Given the description of an element on the screen output the (x, y) to click on. 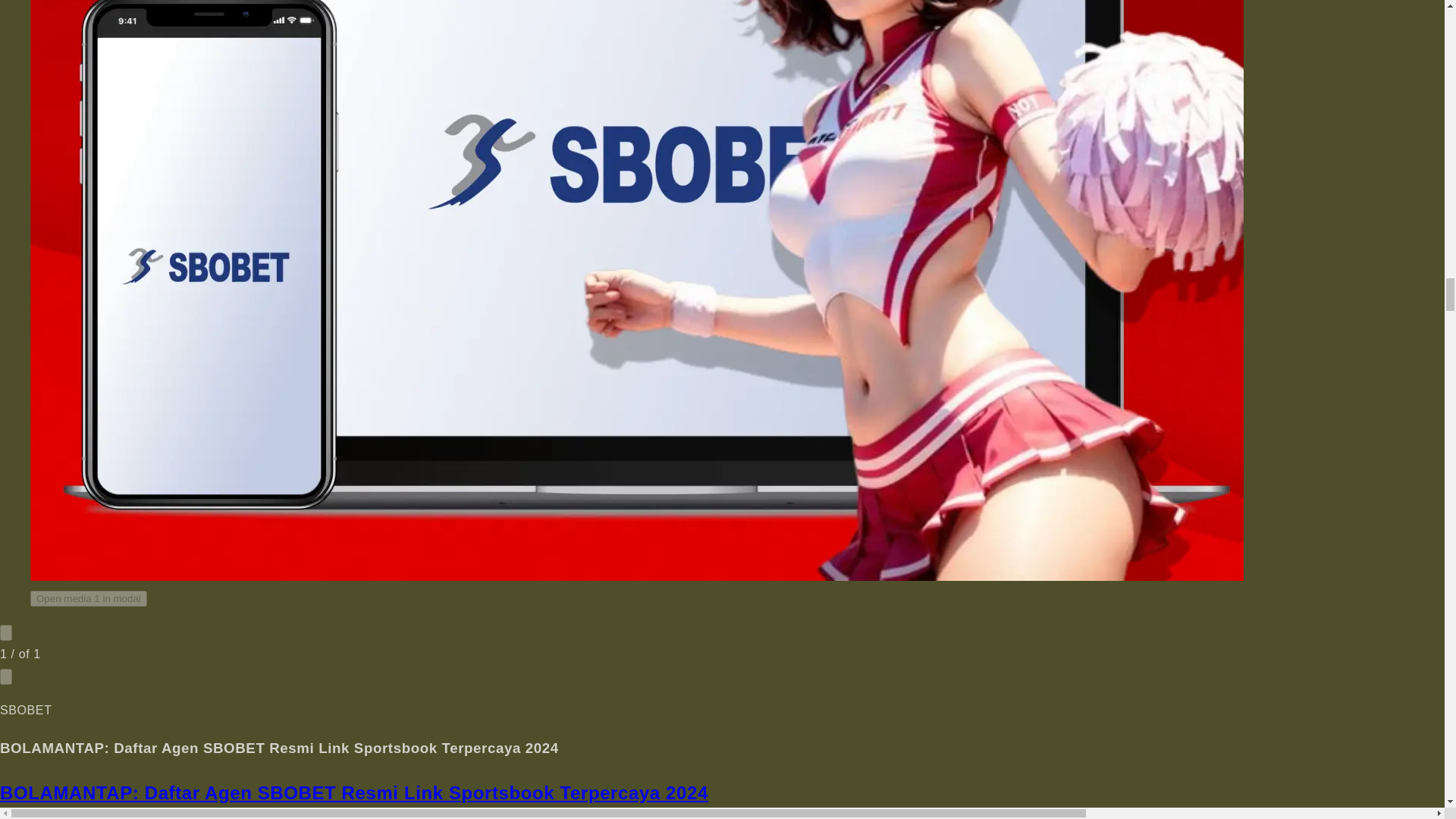
Open media 1 in modal (88, 598)
